Given the description of an element on the screen output the (x, y) to click on. 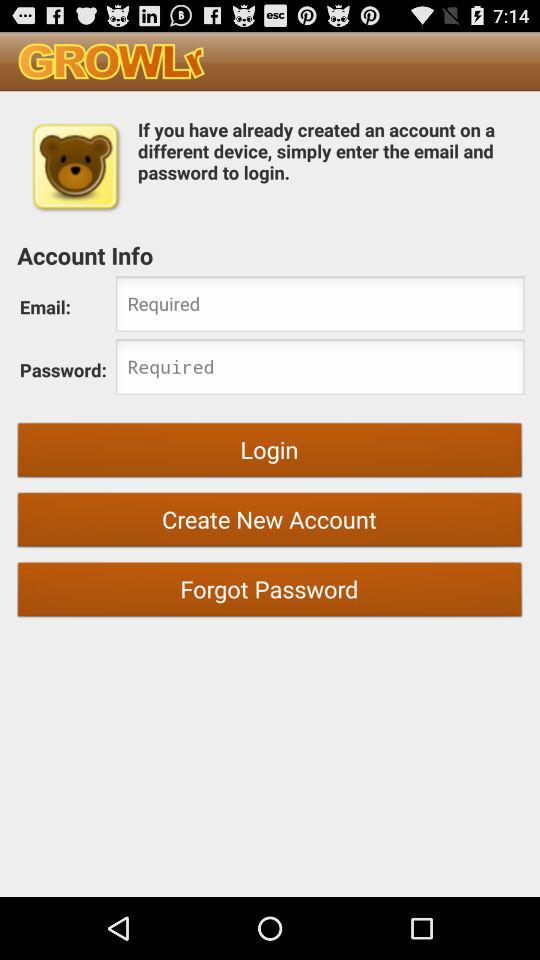
open the icon above the forgot password icon (269, 521)
